Given the description of an element on the screen output the (x, y) to click on. 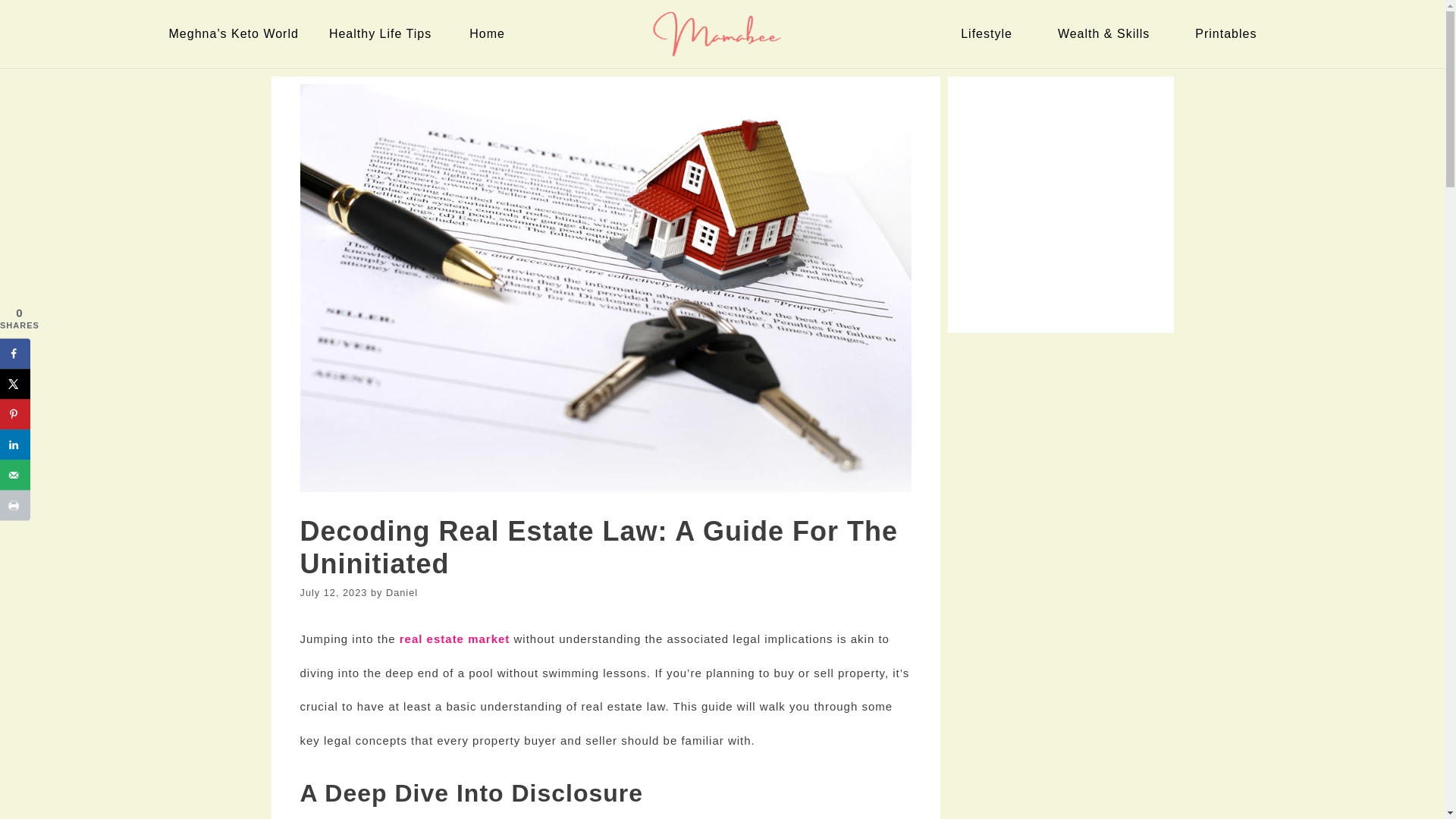
Home (490, 33)
Healthy Life Tips (383, 33)
View all posts by Daniel (401, 592)
Lifestyle (989, 33)
